Given the description of an element on the screen output the (x, y) to click on. 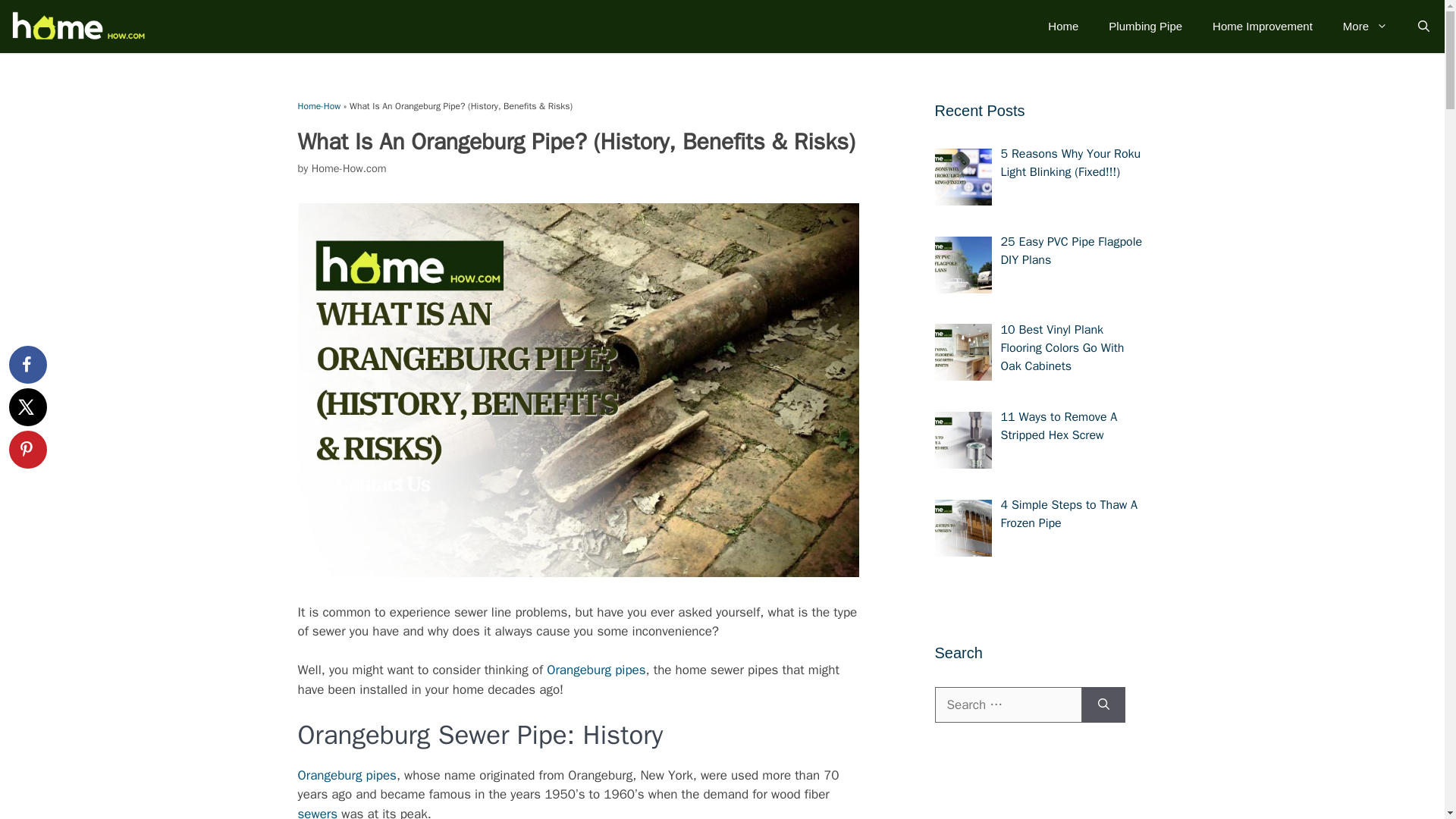
More (1365, 26)
Orangeburg pipes (346, 774)
Home-How (318, 105)
View all posts by Home-How.com (349, 168)
Orangeburg pipes (596, 669)
Home Improvement (1261, 26)
Home-How.com (349, 168)
sewers (317, 812)
Home-How.com (77, 26)
Plumbing Pipe (1144, 26)
Home (1062, 26)
